Given the description of an element on the screen output the (x, y) to click on. 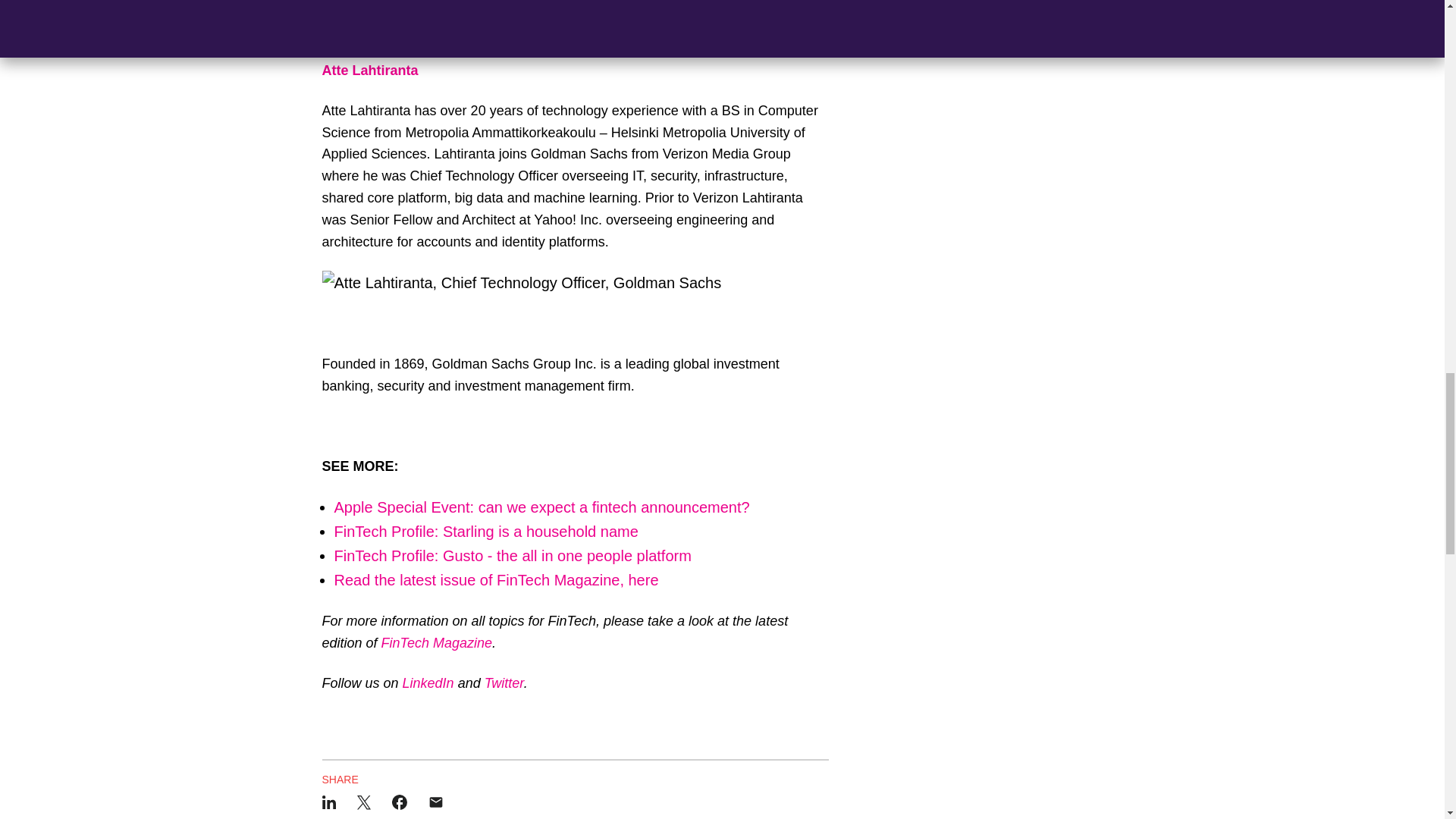
Atte Lahtiranta (369, 70)
LinkedIn (428, 683)
Twitter (504, 683)
inTech Profile: Starling is a household name (491, 531)
Apple S (360, 506)
Read the latest issue of FinTech Magazine, here (495, 579)
pecial Event: can we expect a fintech announcement? (568, 506)
inTech Magazine (441, 642)
inTech Profile: Gusto - the all in one people platform (517, 555)
